Given the description of an element on the screen output the (x, y) to click on. 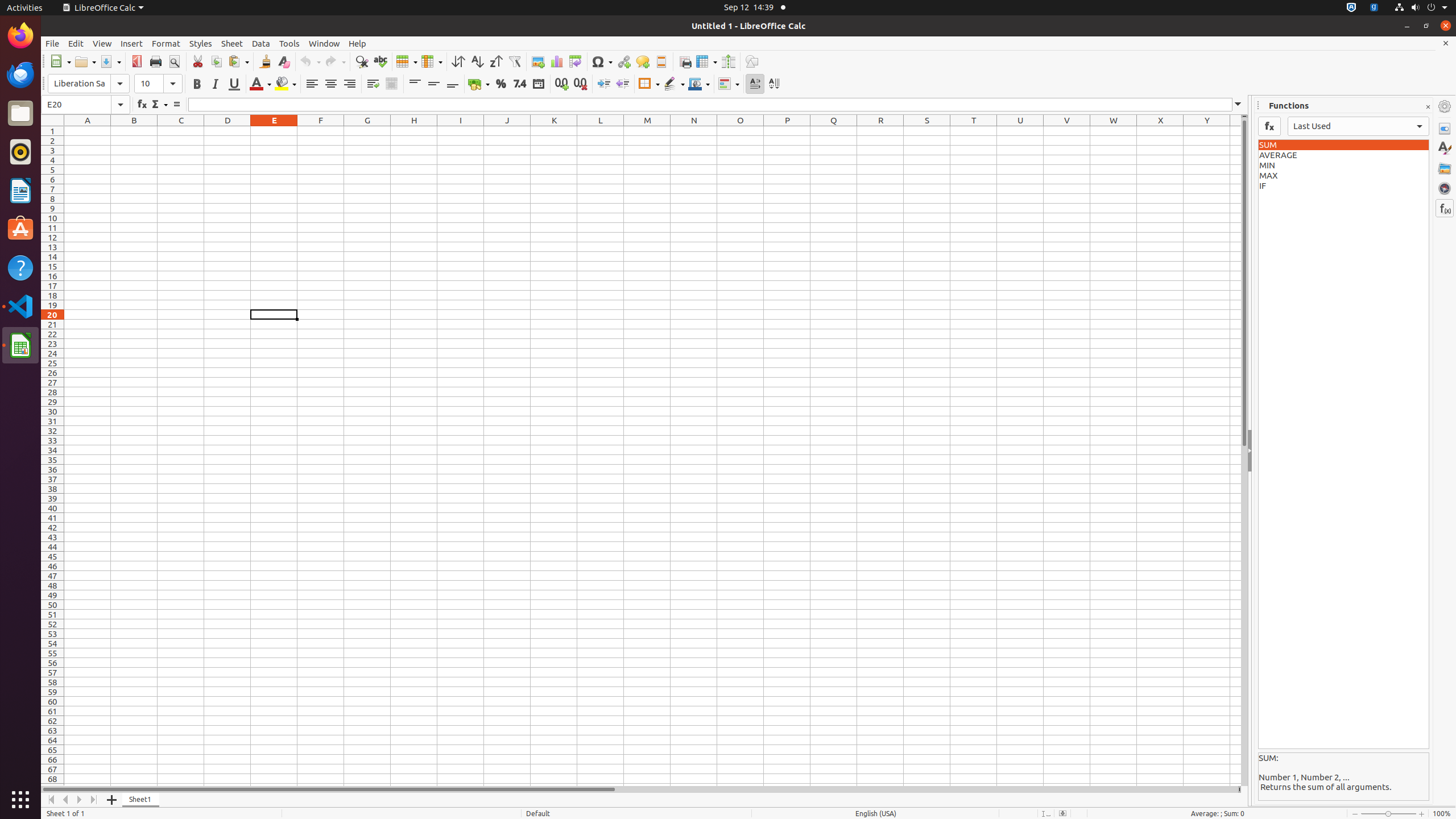
Italic Element type: toggle-button (214, 83)
Row Element type: push-button (406, 61)
Border Color Element type: push-button (698, 83)
Align Center Element type: push-button (330, 83)
E1 Element type: table-cell (273, 130)
